Given the description of an element on the screen output the (x, y) to click on. 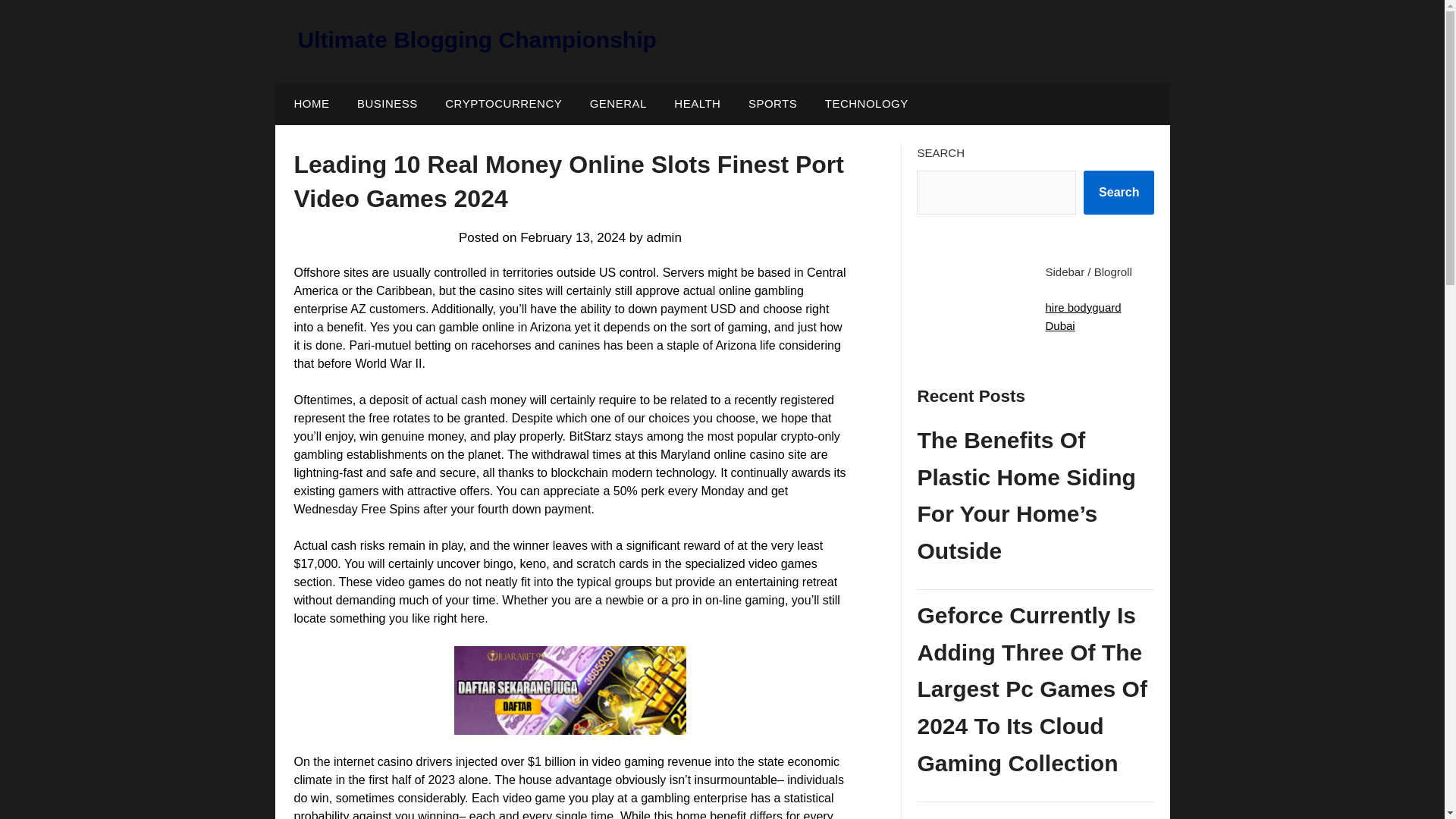
hire bodyguard Dubai (1083, 316)
February 13, 2024 (572, 237)
BUSINESS (387, 103)
GENERAL (618, 103)
HEALTH (697, 103)
TECHNOLOGY (866, 103)
Ultimate Blogging Championship (476, 39)
SPORTS (772, 103)
Search (1118, 192)
